Given the description of an element on the screen output the (x, y) to click on. 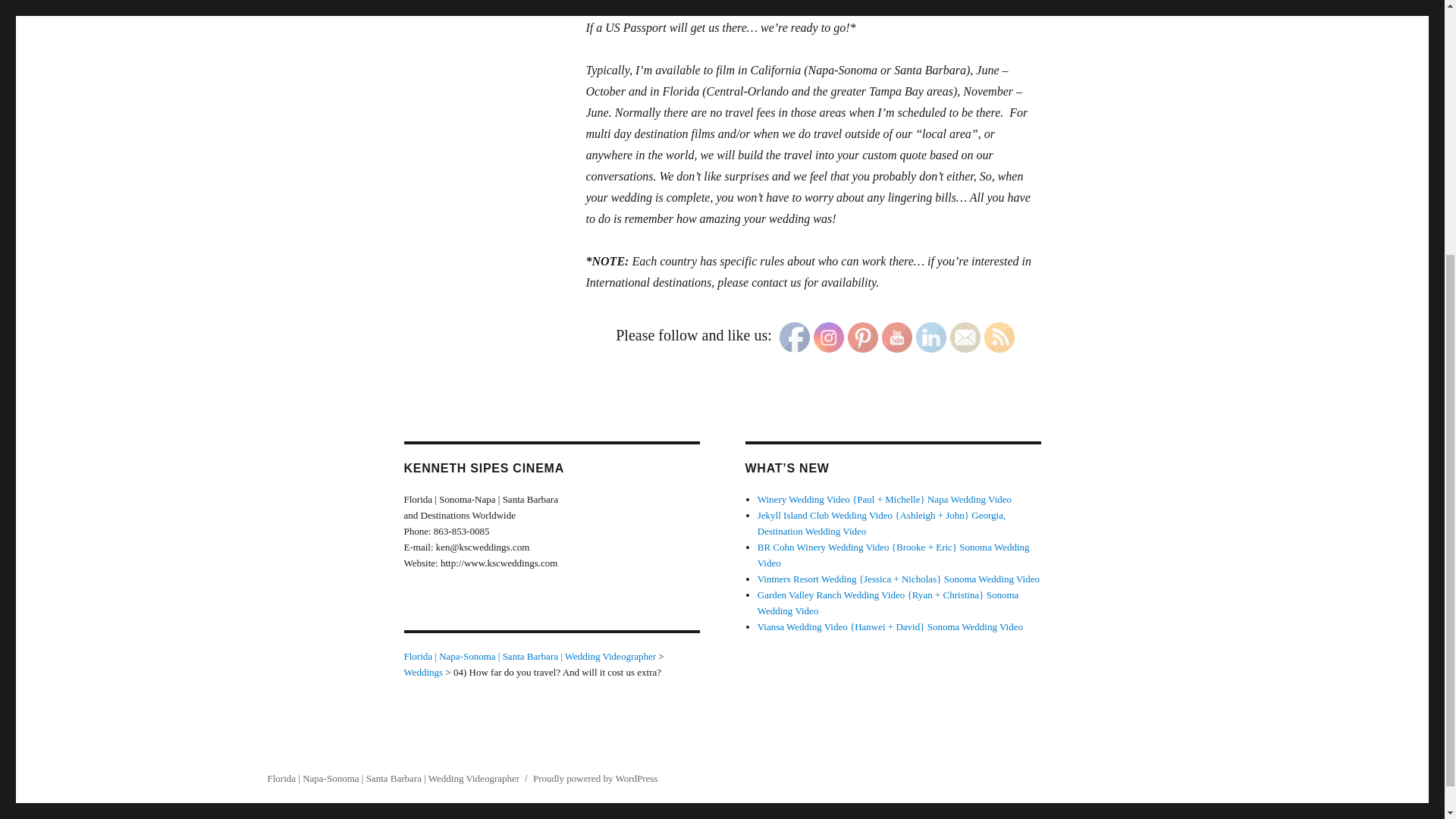
Weddings (422, 672)
LinkedIn (930, 337)
RSS (999, 337)
INSTAGRAM (828, 337)
Proudly powered by WordPress (595, 778)
Go to the Weddings FAQ Group archives. (422, 672)
YouTube (897, 337)
Follow by Email (964, 337)
Facebook (793, 337)
Pinterest (862, 337)
